Given the description of an element on the screen output the (x, y) to click on. 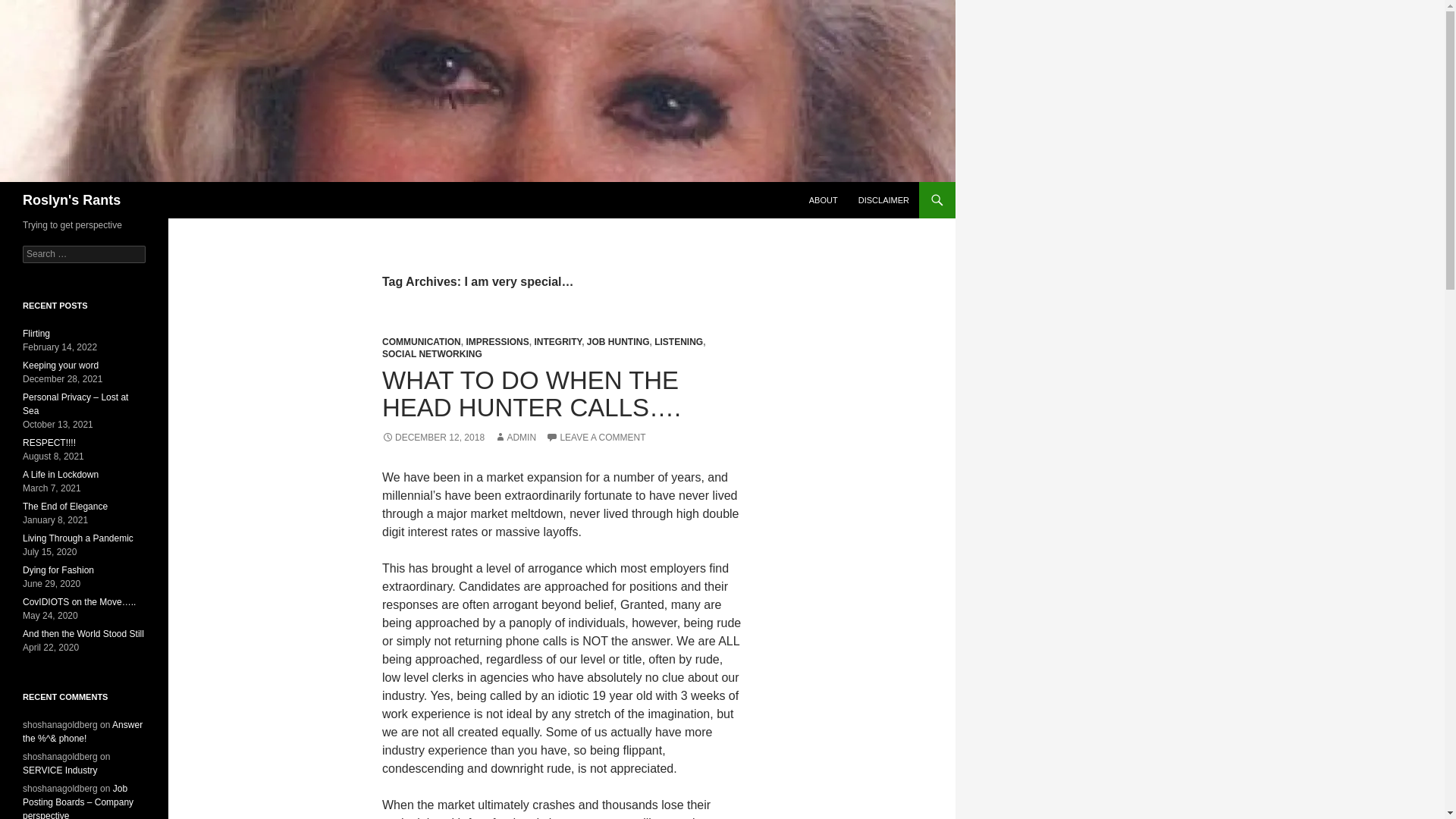
The End of Elegance (65, 506)
DECEMBER 12, 2018 (432, 437)
Keeping your word (61, 365)
Search (30, 8)
IMPRESSIONS (496, 341)
SOCIAL NETWORKING (431, 353)
LISTENING (678, 341)
RESPECT!!!! (49, 442)
Flirting (36, 333)
LEAVE A COMMENT (595, 437)
Living Through a Pandemic (78, 538)
Roslyn's Rants (71, 199)
ABOUT (823, 199)
DISCLAIMER (883, 199)
ADMIN (515, 437)
